Given the description of an element on the screen output the (x, y) to click on. 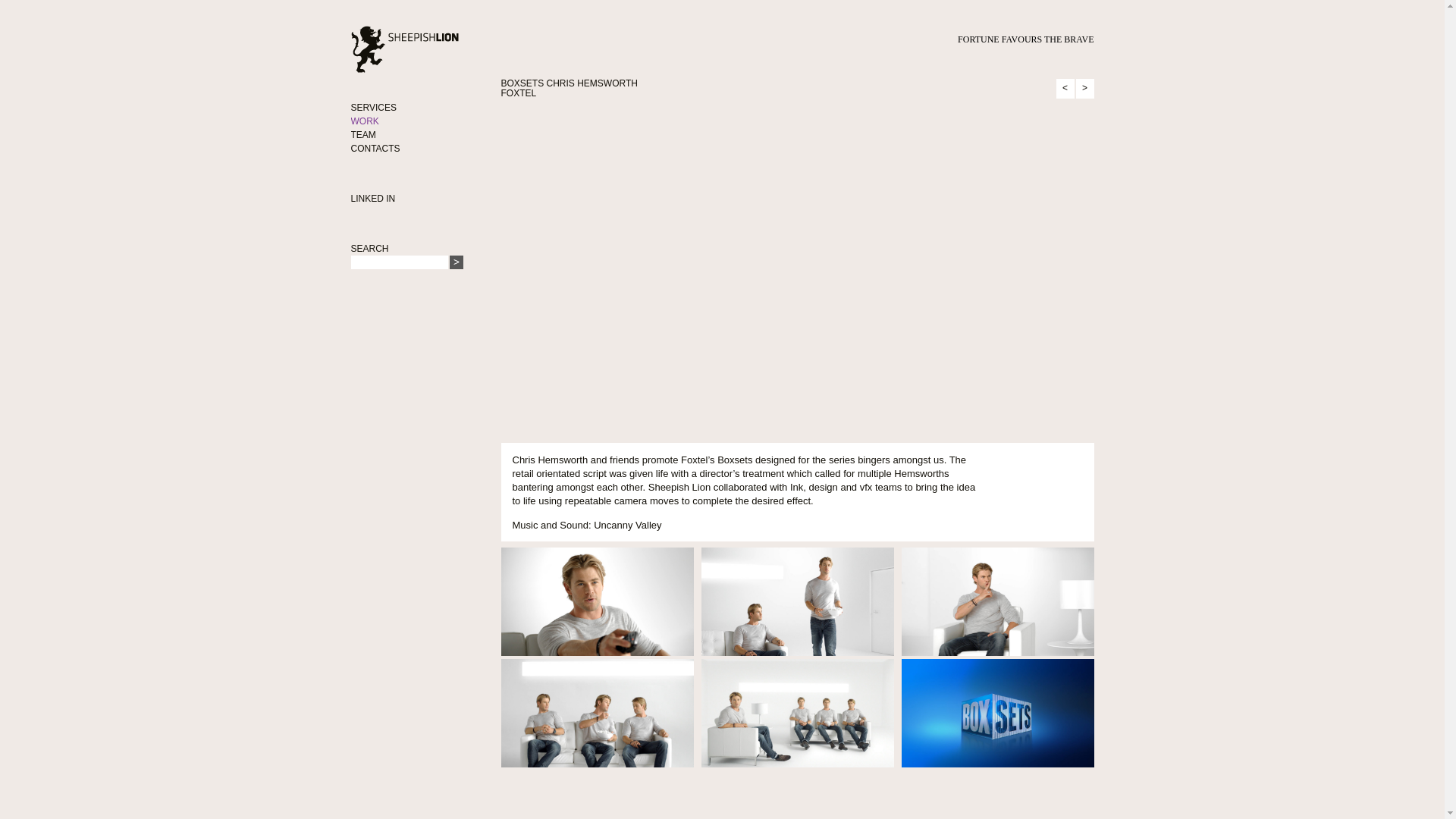
CONTACTS (374, 148)
search (455, 262)
SERVICES (373, 107)
Sheepish Lion (421, 52)
search (455, 262)
LINKED IN (372, 198)
TEAM (362, 134)
WORK (364, 121)
